Given the description of an element on the screen output the (x, y) to click on. 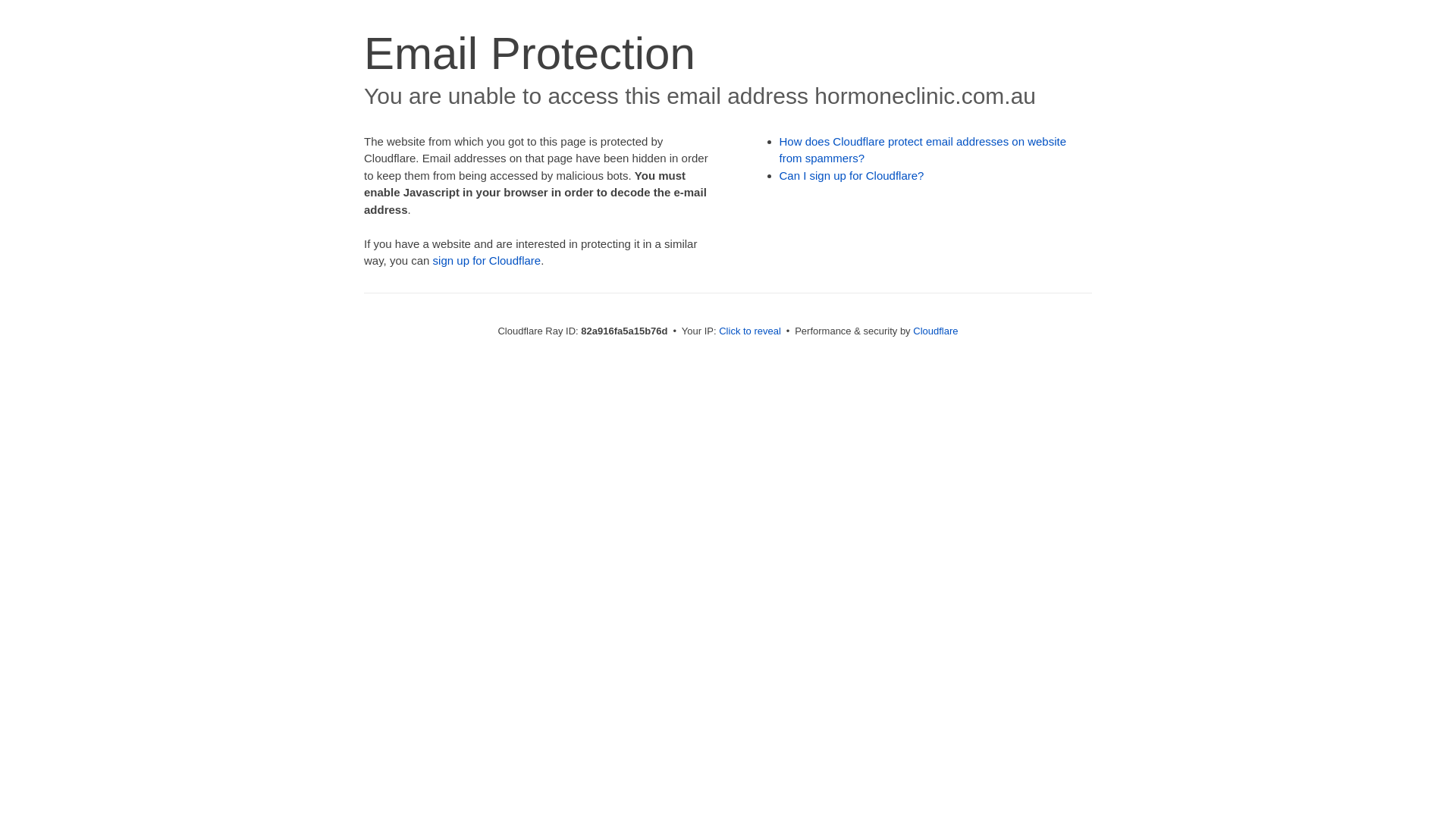
Click to reveal Element type: text (749, 330)
Cloudflare Element type: text (935, 330)
Can I sign up for Cloudflare? Element type: text (851, 175)
sign up for Cloudflare Element type: text (487, 260)
